Given the description of an element on the screen output the (x, y) to click on. 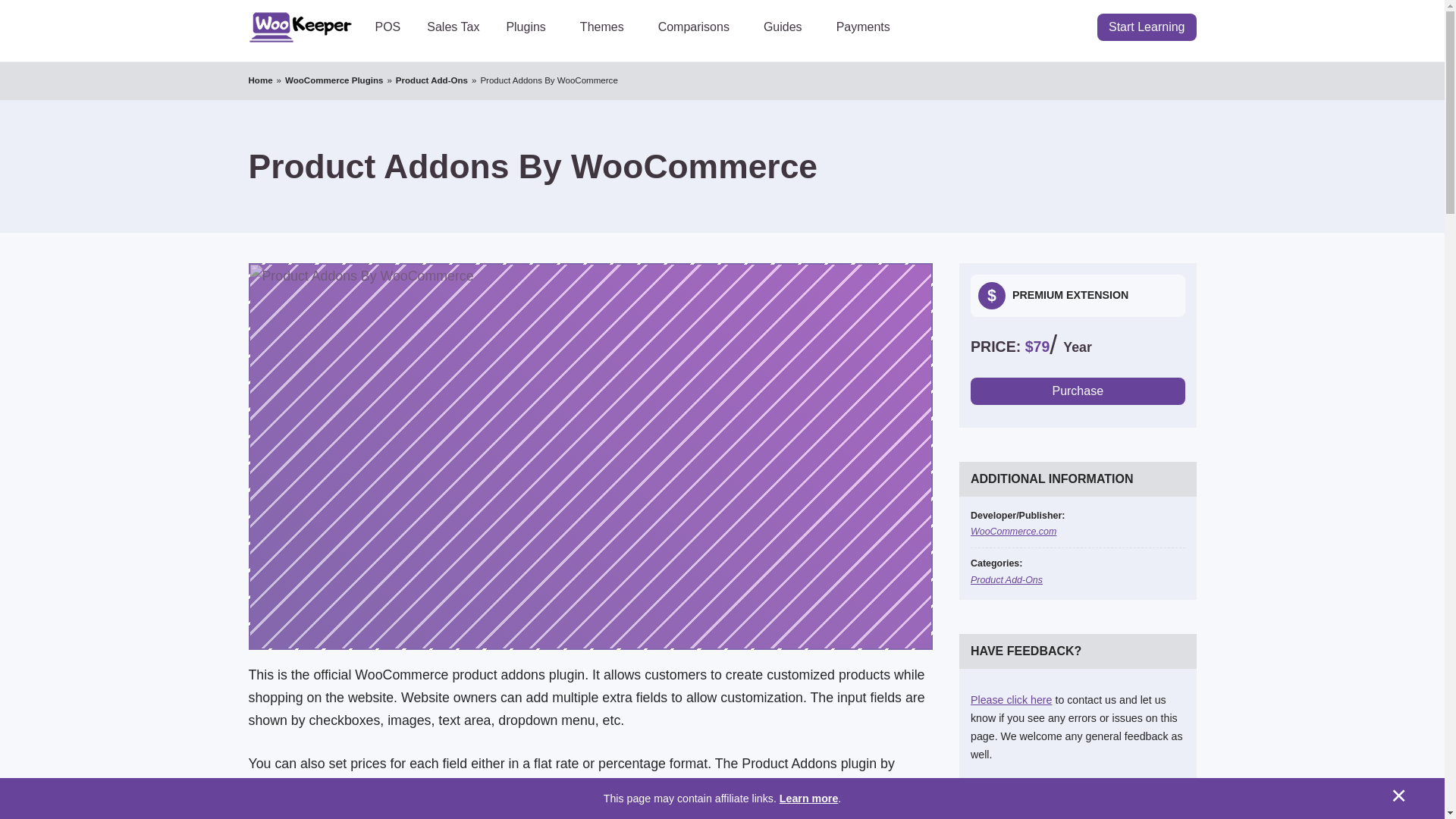
Themes (606, 26)
Comparisons (697, 26)
Sales Tax (452, 26)
POS (388, 26)
Plugins (529, 26)
